Given the description of an element on the screen output the (x, y) to click on. 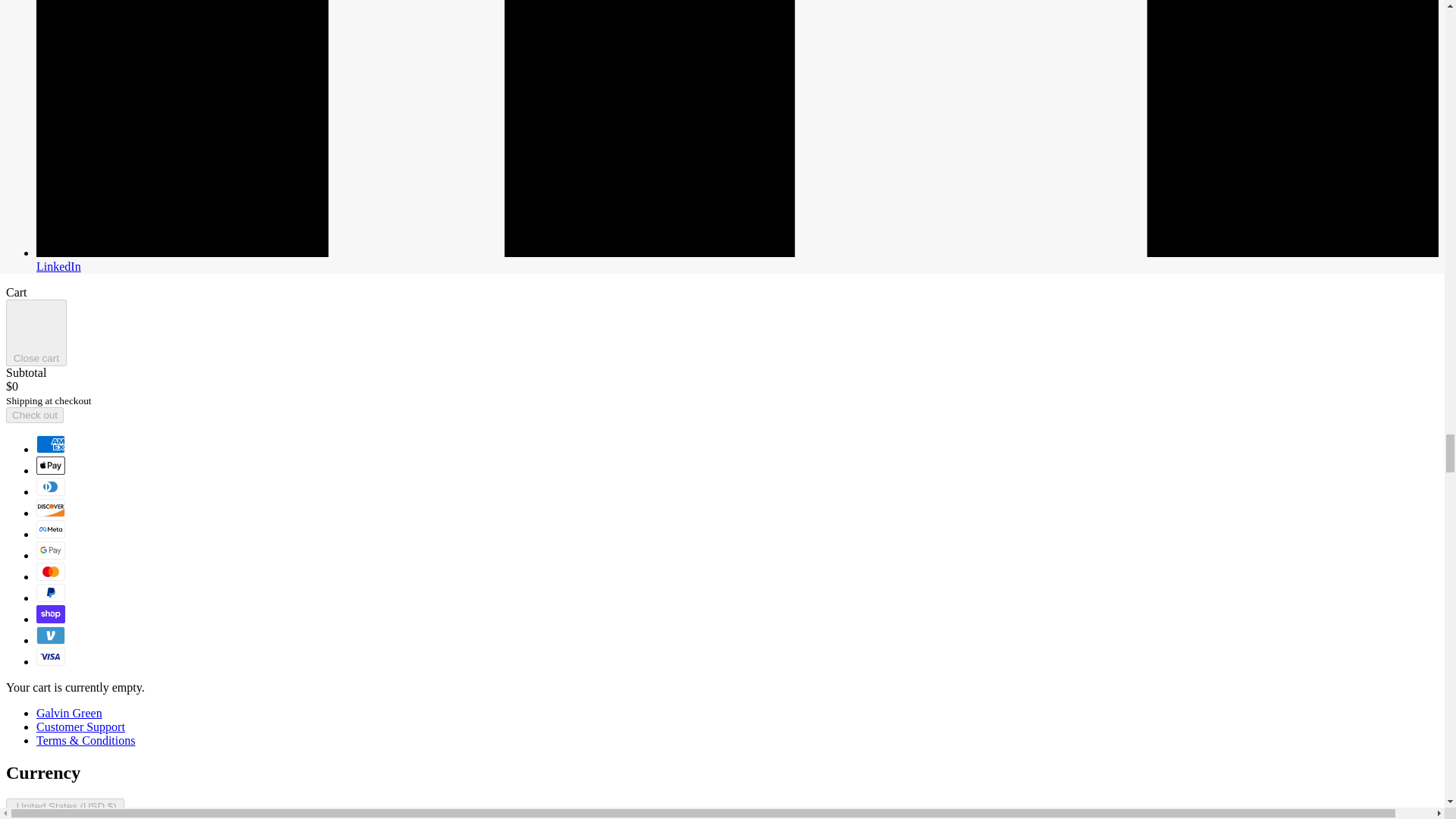
Apple Pay (50, 465)
Mastercard (50, 571)
Discover (50, 507)
Meta Pay (50, 529)
Google Pay (50, 550)
Diners Club (50, 486)
Galvin Green on LinkedIn (737, 259)
American Express (50, 443)
PayPal (50, 592)
